Given the description of an element on the screen output the (x, y) to click on. 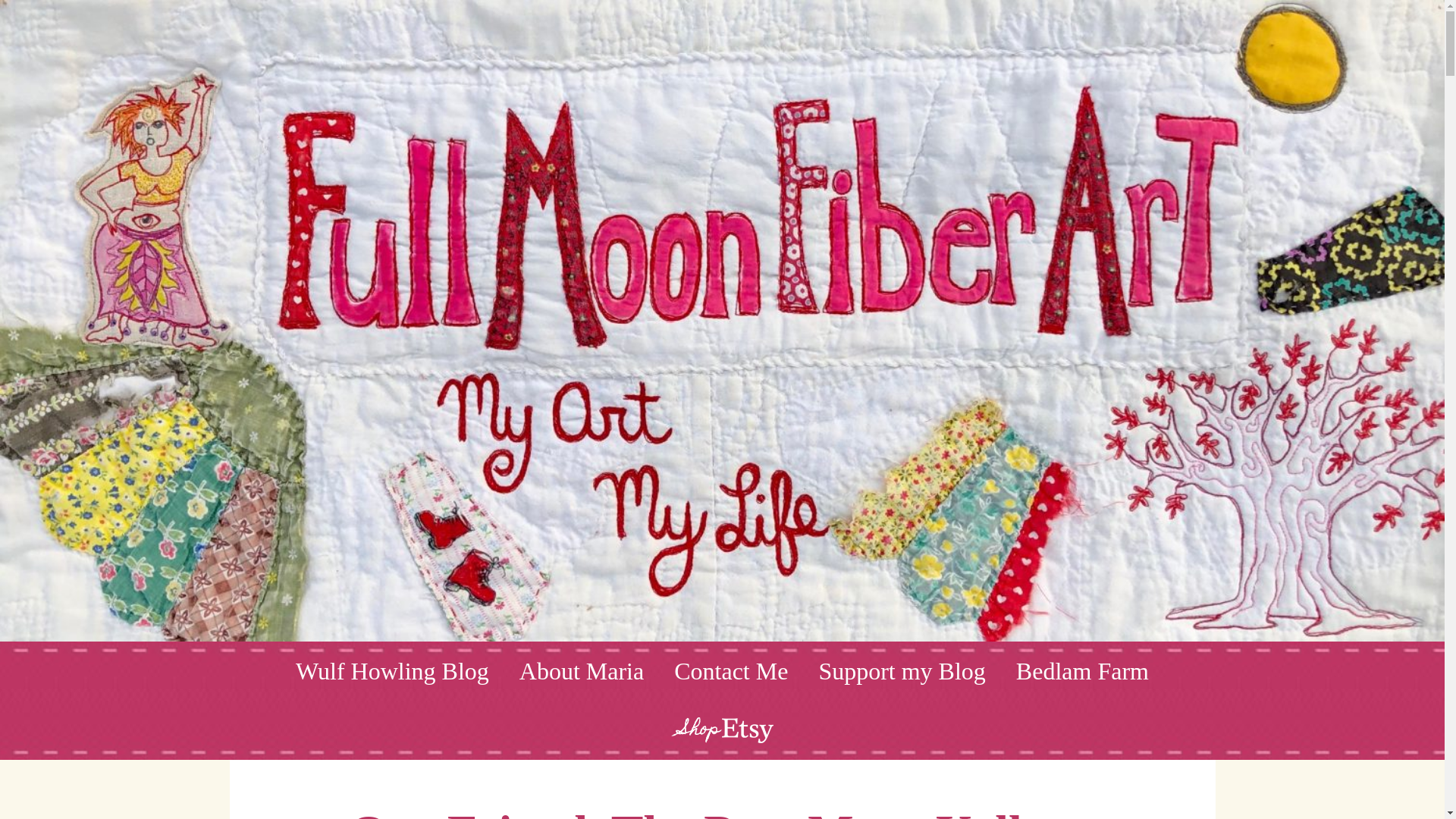
Contact Me (731, 671)
Bedlam Farm (1082, 671)
Support my Blog (901, 671)
About Maria (581, 671)
Shop Etsy (721, 730)
Wulf Howling Blog (392, 671)
